Given the description of an element on the screen output the (x, y) to click on. 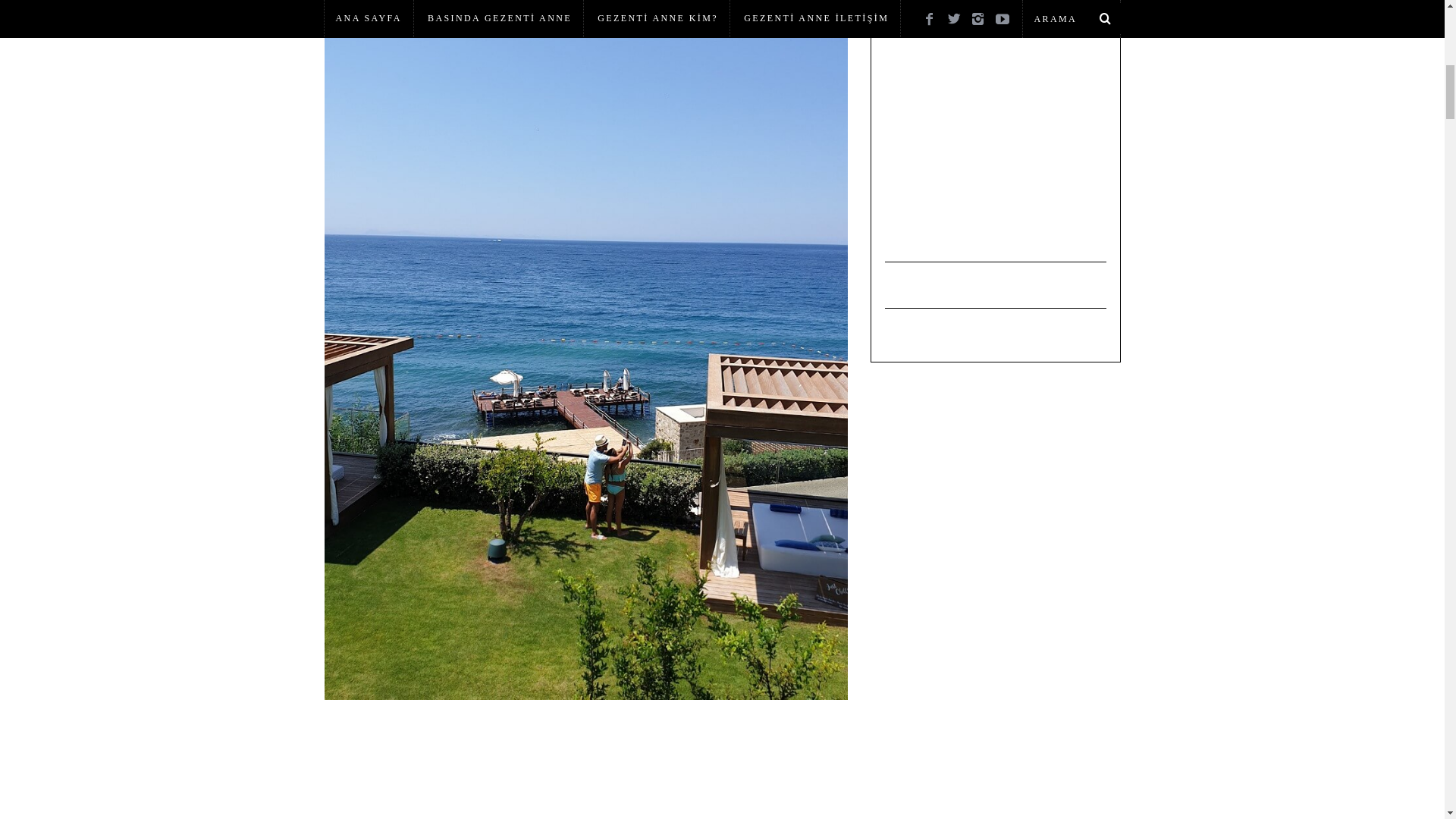
Advertisement (997, 138)
